Given the description of an element on the screen output the (x, y) to click on. 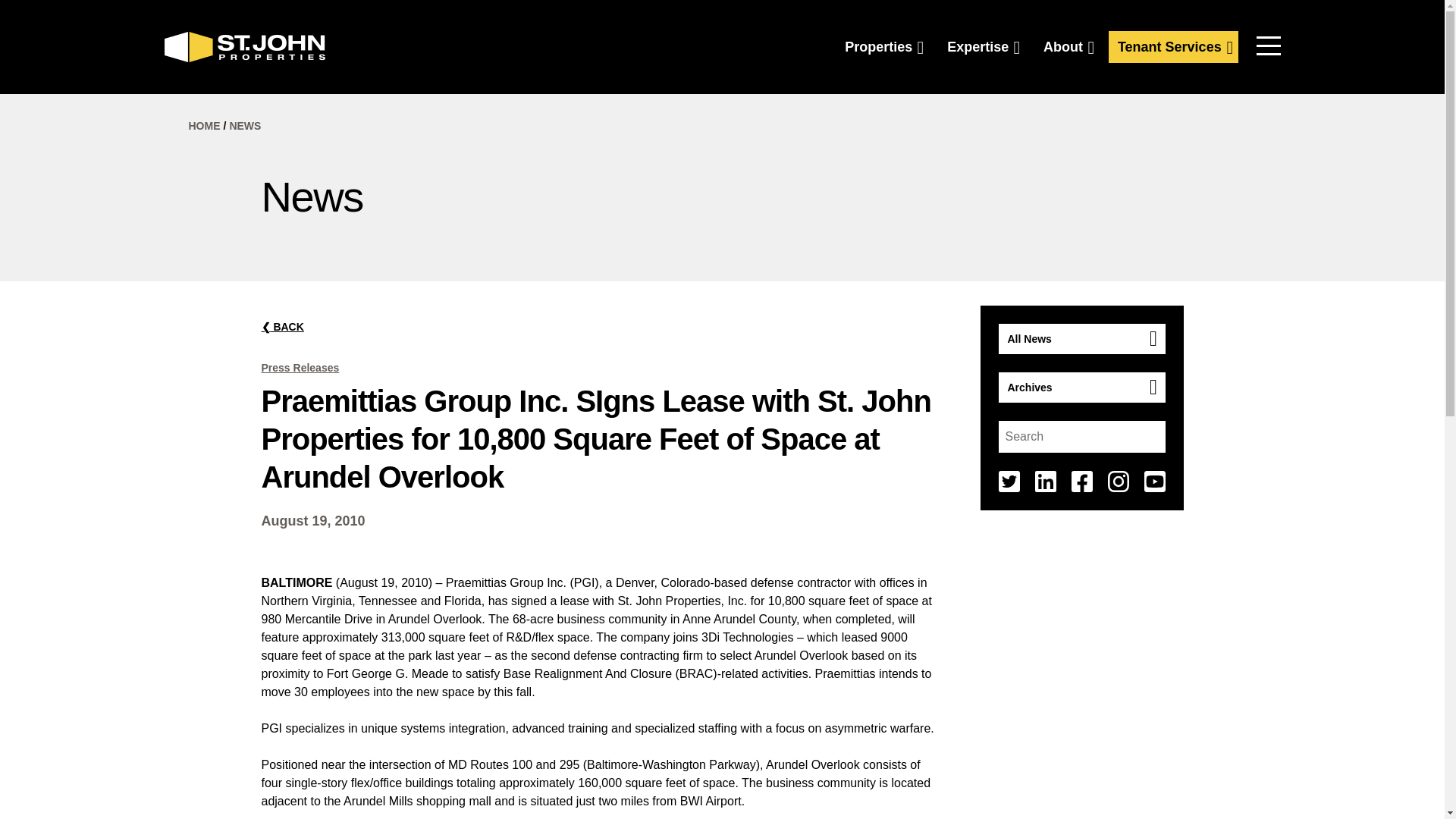
About (1058, 47)
Properties (873, 47)
HOME (203, 125)
St. John Properties, Inc. (187, 46)
Tenant Services (1164, 47)
Expertise (973, 47)
NEWS (244, 125)
